Given the description of an element on the screen output the (x, y) to click on. 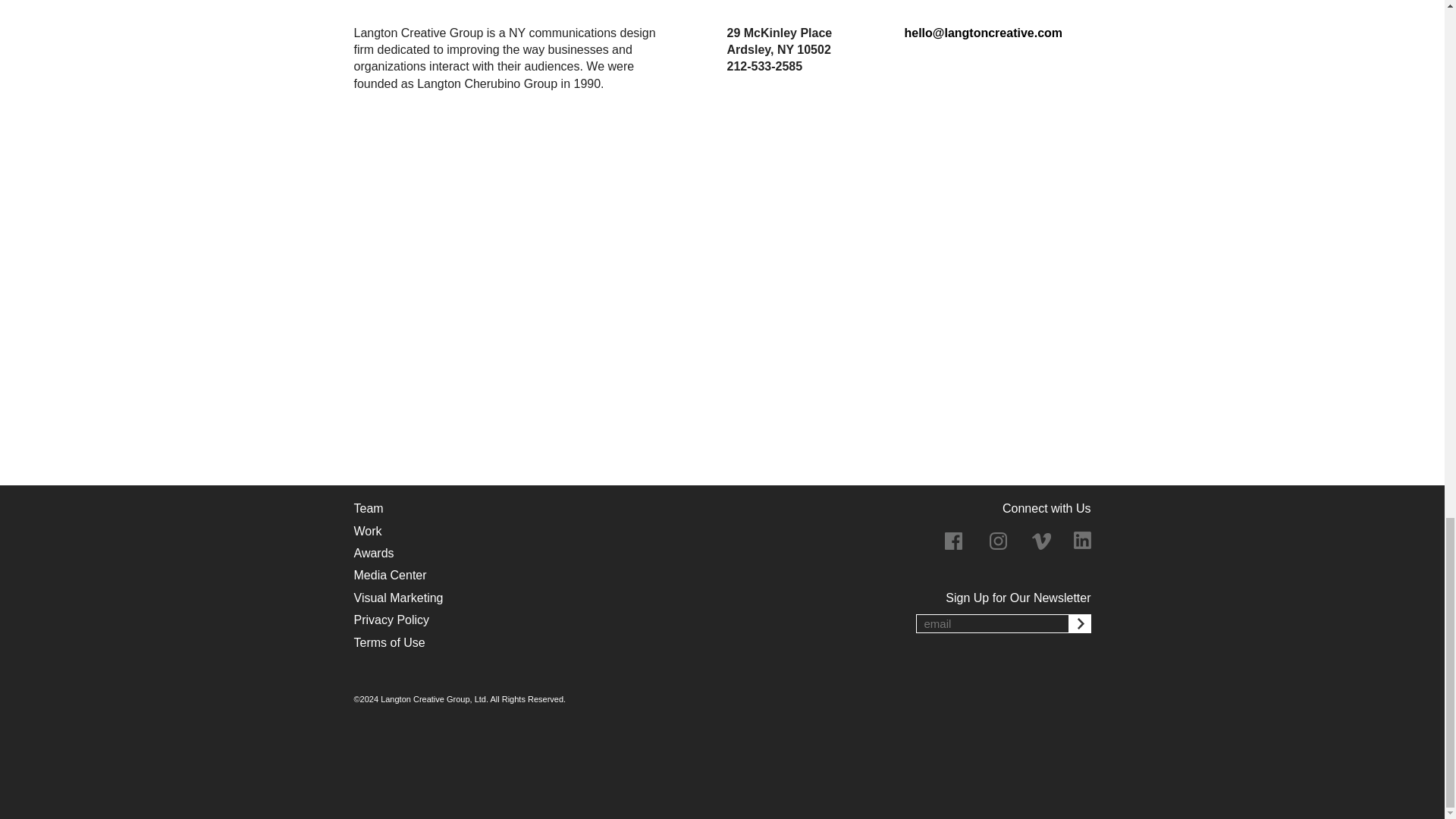
Team (367, 509)
Media Center (389, 576)
Work (367, 532)
Visual Marketing (397, 598)
Awards (373, 554)
Terms of Use (389, 643)
Privacy Policy (391, 620)
